Given the description of an element on the screen output the (x, y) to click on. 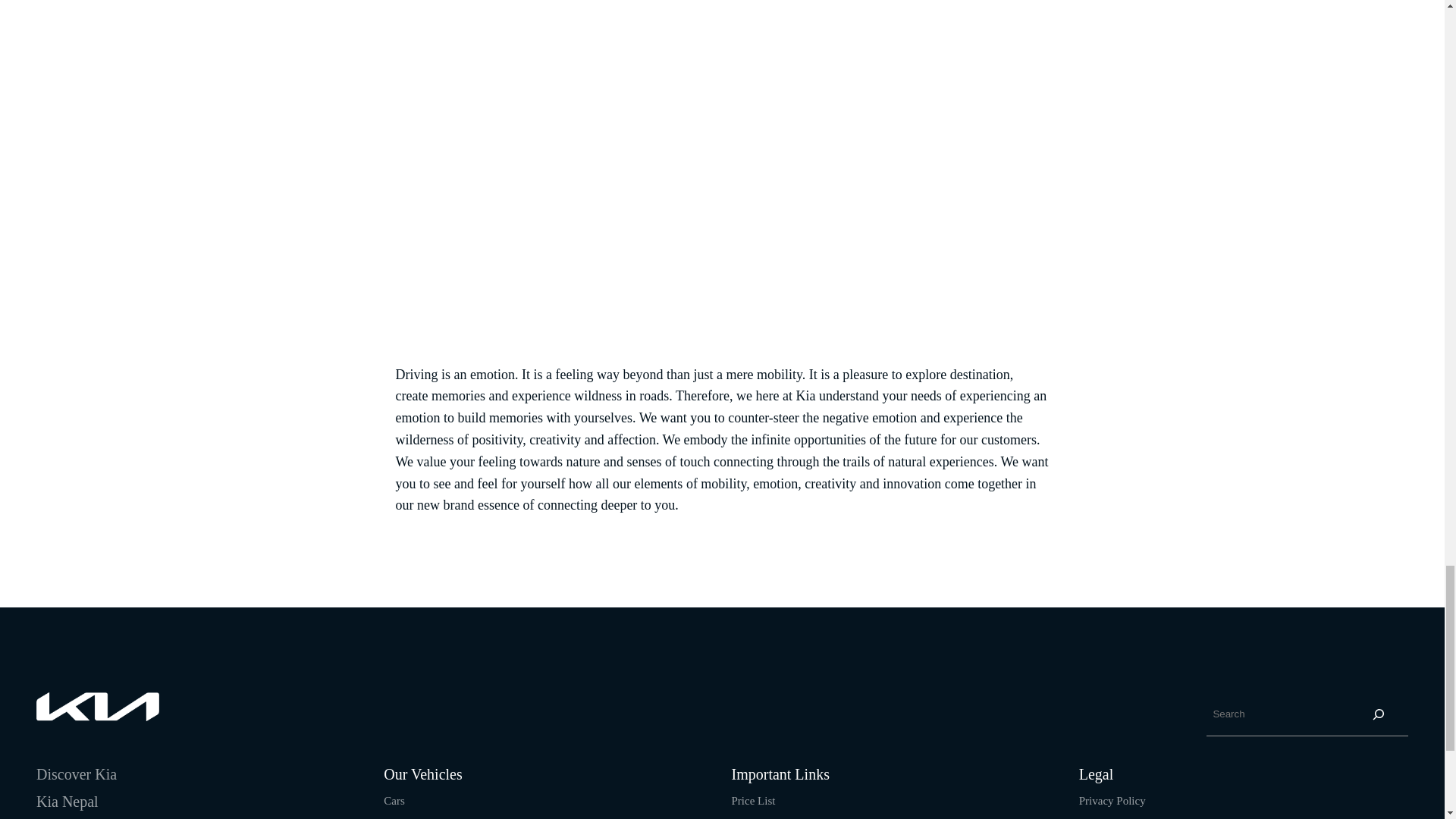
Cars (394, 800)
Discover Kia (76, 773)
Kia Nepal (67, 801)
Price List (752, 800)
Privacy Policy (1111, 800)
